Given the description of an element on the screen output the (x, y) to click on. 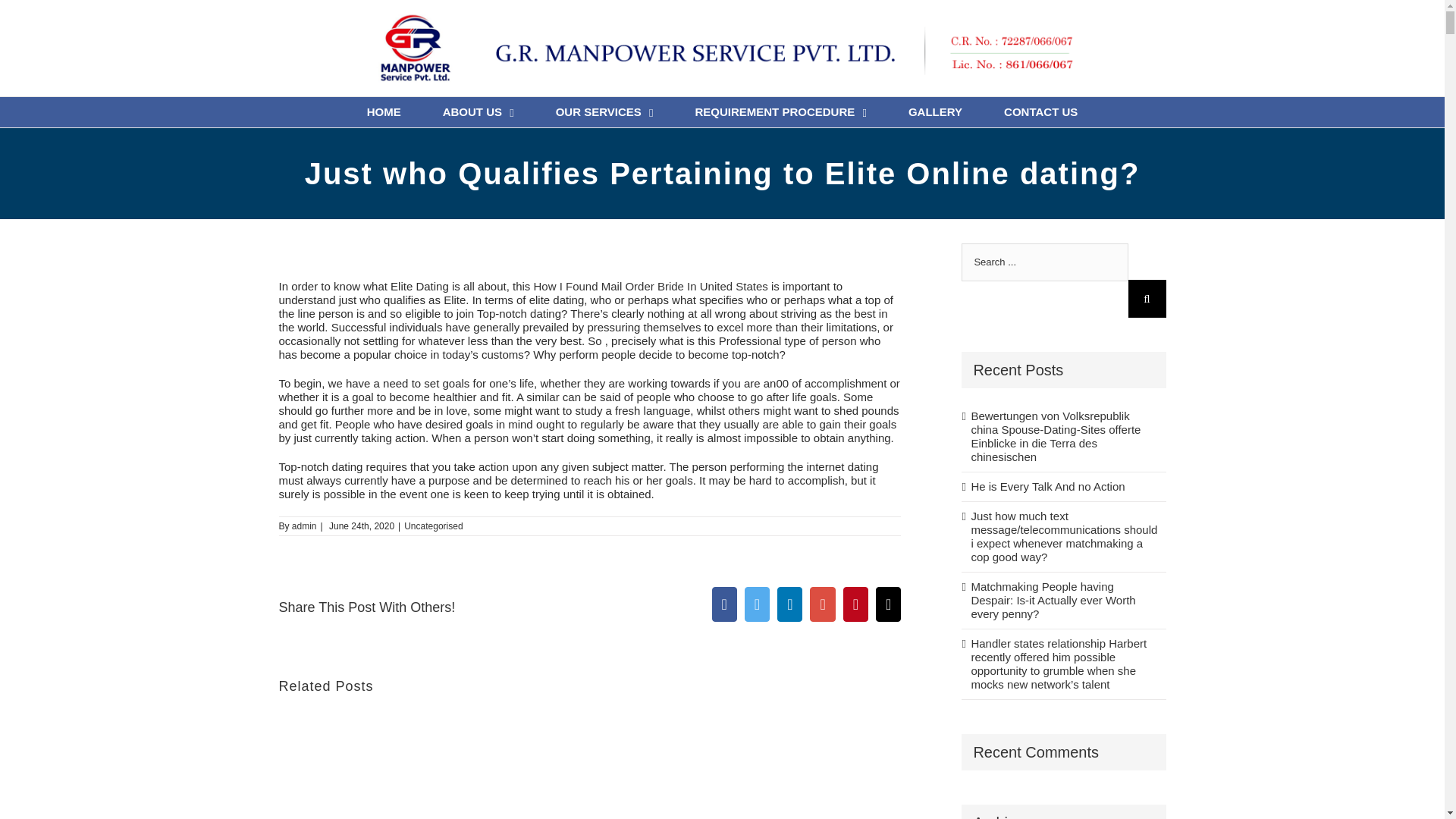
CONTACT US (1040, 112)
GALLERY (935, 112)
Uncategorised (433, 525)
Posts by admin (304, 525)
How I Found Mail Order Bride In United States (651, 285)
admin (304, 525)
HOME (383, 112)
ABOUT US (477, 112)
REQUIREMENT PROCEDURE (780, 112)
OUR SERVICES (604, 112)
